Given the description of an element on the screen output the (x, y) to click on. 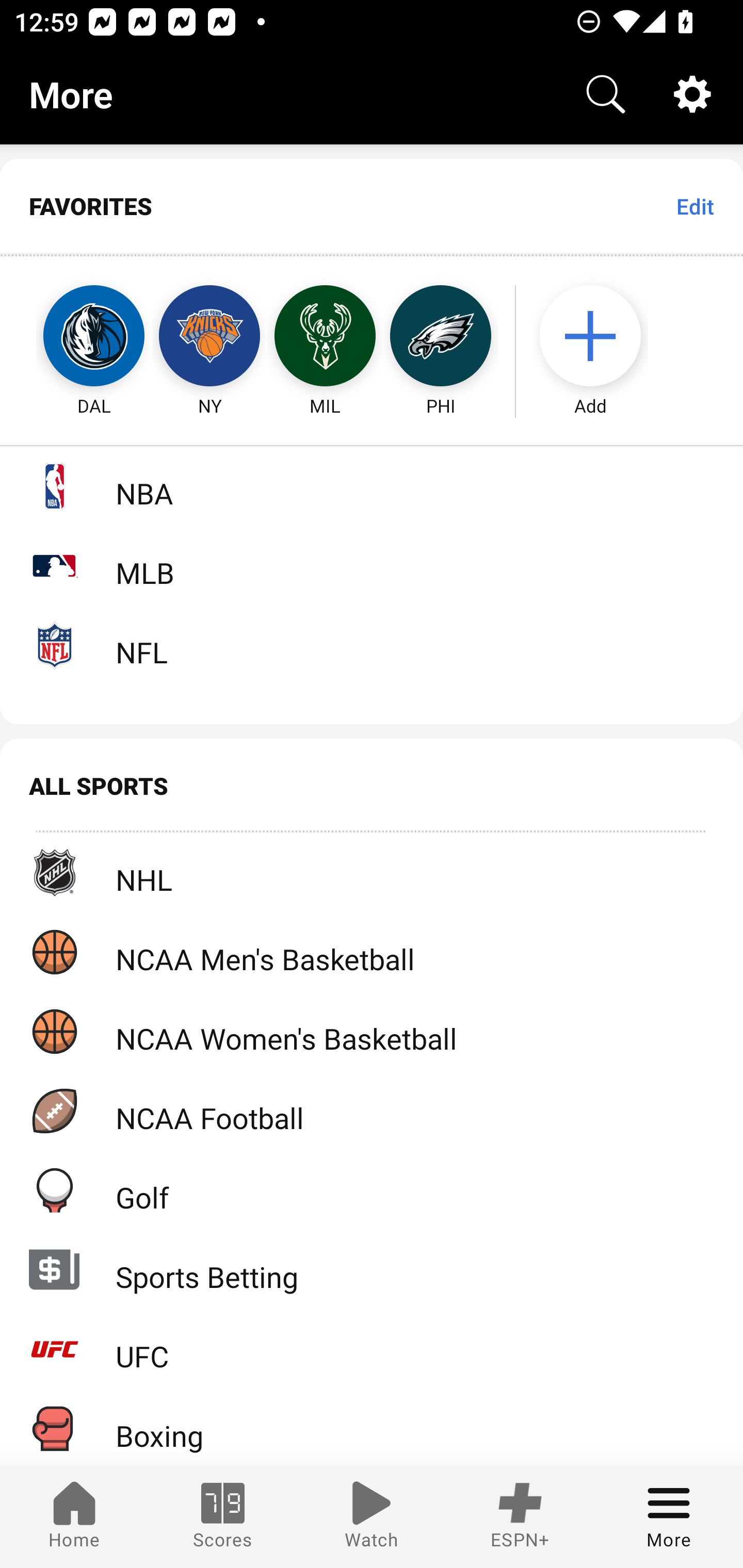
Search (605, 93)
Settings (692, 93)
Edit (695, 205)
DAL Dallas Mavericks (75, 336)
NY New York Knicks (209, 336)
MIL Milwaukee Bucks (324, 336)
PHI Philadelphia Eagles (440, 336)
 Add (599, 336)
NBA (371, 485)
MLB (371, 565)
NFL (371, 645)
NHL (371, 872)
NCAA Men's Basketball (371, 951)
NCAA Women's Basketball (371, 1030)
NCAA Football (371, 1110)
Golf (371, 1189)
Sports Betting (371, 1269)
UFC (371, 1349)
Boxing (371, 1428)
Home (74, 1517)
Scores (222, 1517)
Watch (371, 1517)
ESPN+ (519, 1517)
